Given the description of an element on the screen output the (x, y) to click on. 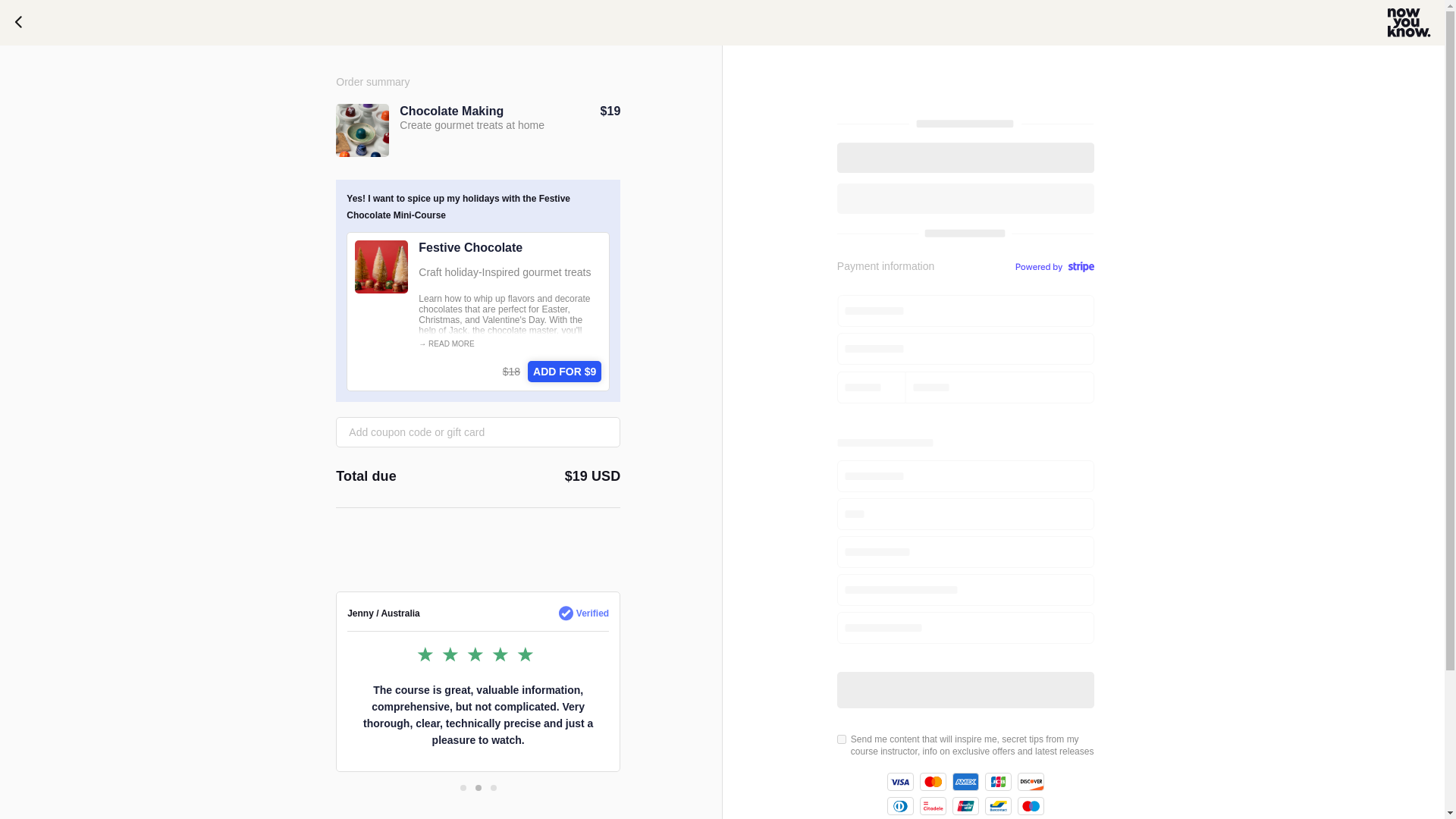
Customer reviews powered by Trustpilot (478, 560)
on (841, 738)
